Given the description of an element on the screen output the (x, y) to click on. 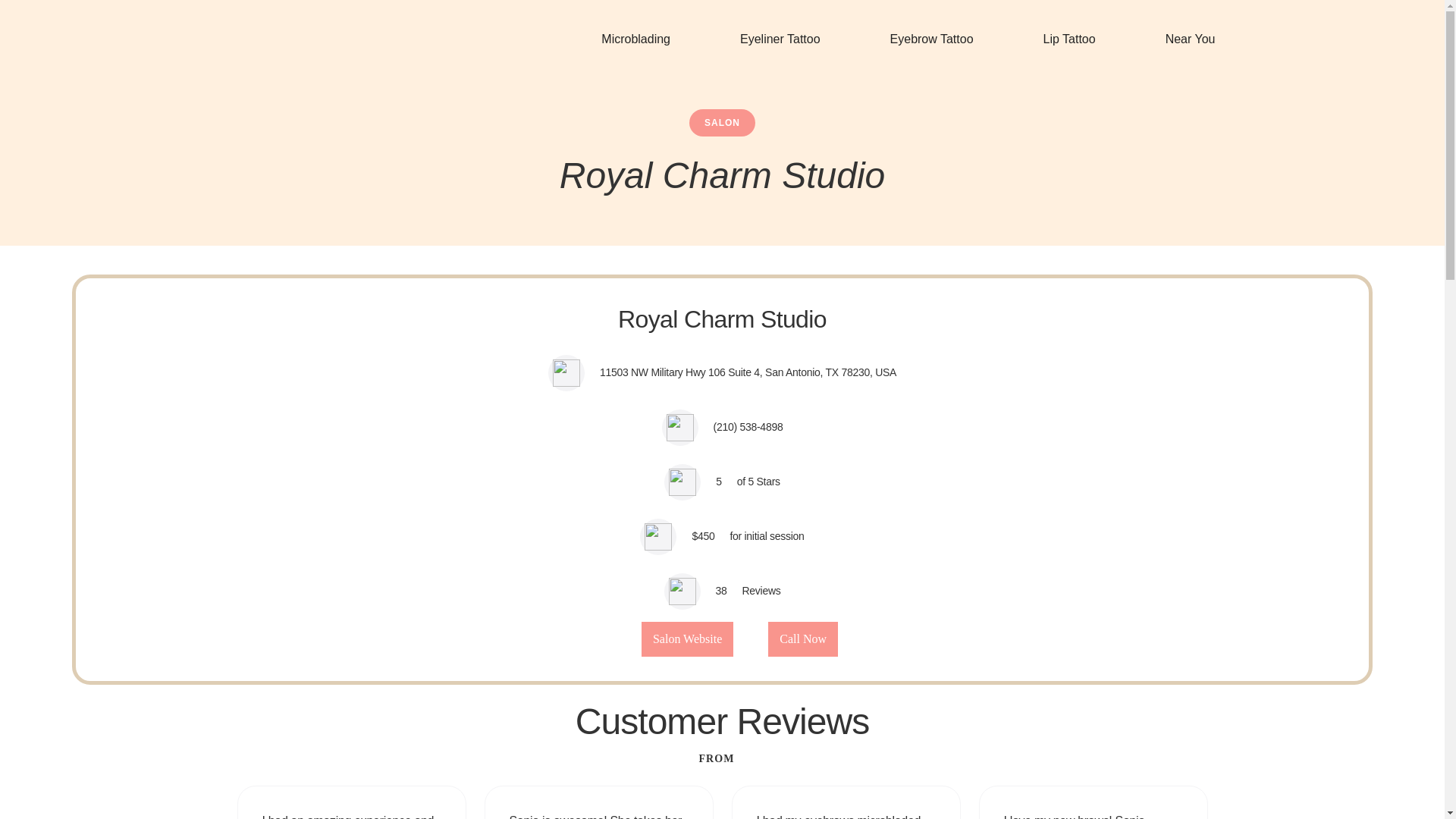
Lip Tattoo (1069, 39)
Eyebrow Tattoo (931, 39)
Near You (1189, 39)
Eyeliner Tattoo (780, 39)
Microblading (636, 39)
Call Now (803, 638)
Salon Website (687, 638)
